Given the description of an element on the screen output the (x, y) to click on. 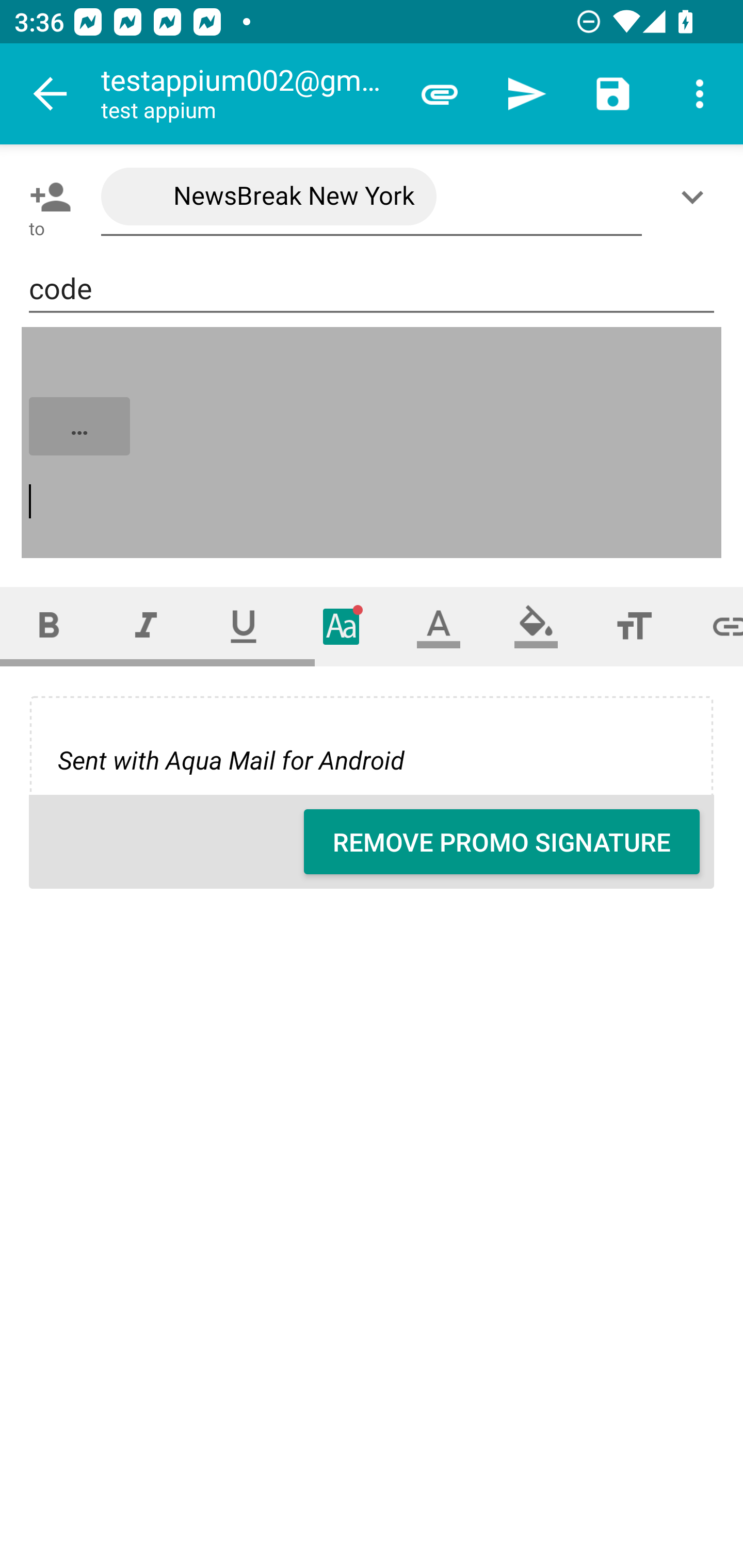
Navigate up (50, 93)
testappium002@gmail.com test appium (248, 93)
Attach (439, 93)
Send (525, 93)
Save (612, 93)
More options (699, 93)
Pick contact: To (46, 196)
Show/Add CC/BCC (696, 196)
code (371, 288)

…
 (372, 442)
Bold (48, 626)
Italic (145, 626)
Underline (243, 626)
Typeface (font) (341, 626)
Text color (438, 626)
Fill color (536, 626)
Font size (633, 626)
REMOVE PROMO SIGNATURE (501, 841)
